Given the description of an element on the screen output the (x, y) to click on. 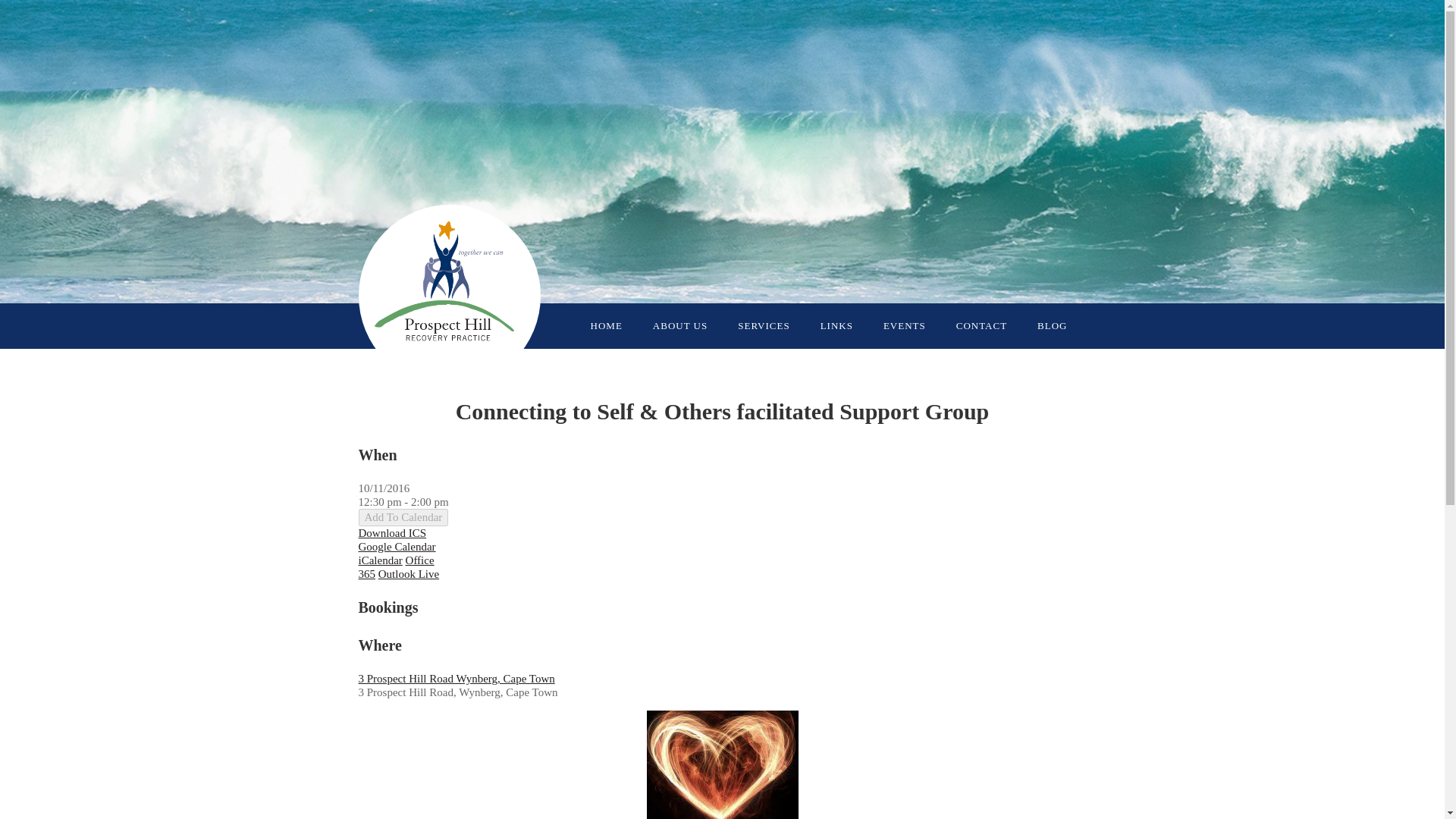
EVENTS (904, 326)
Download ICS (392, 532)
Add To Calendar (403, 517)
SERVICES (763, 326)
Prospect Hill Recovery Practice (449, 295)
Office 365 (395, 566)
BLOG (1052, 326)
CONTACT (980, 326)
LINKS (836, 326)
ABOUT US (680, 326)
3 Prospect Hill Road Wynberg, Cape Town (456, 678)
Outlook Live (408, 573)
Google Calendar (396, 546)
HOME (606, 326)
Prospect Hill Recovery Practice (449, 295)
